Given the description of an element on the screen output the (x, y) to click on. 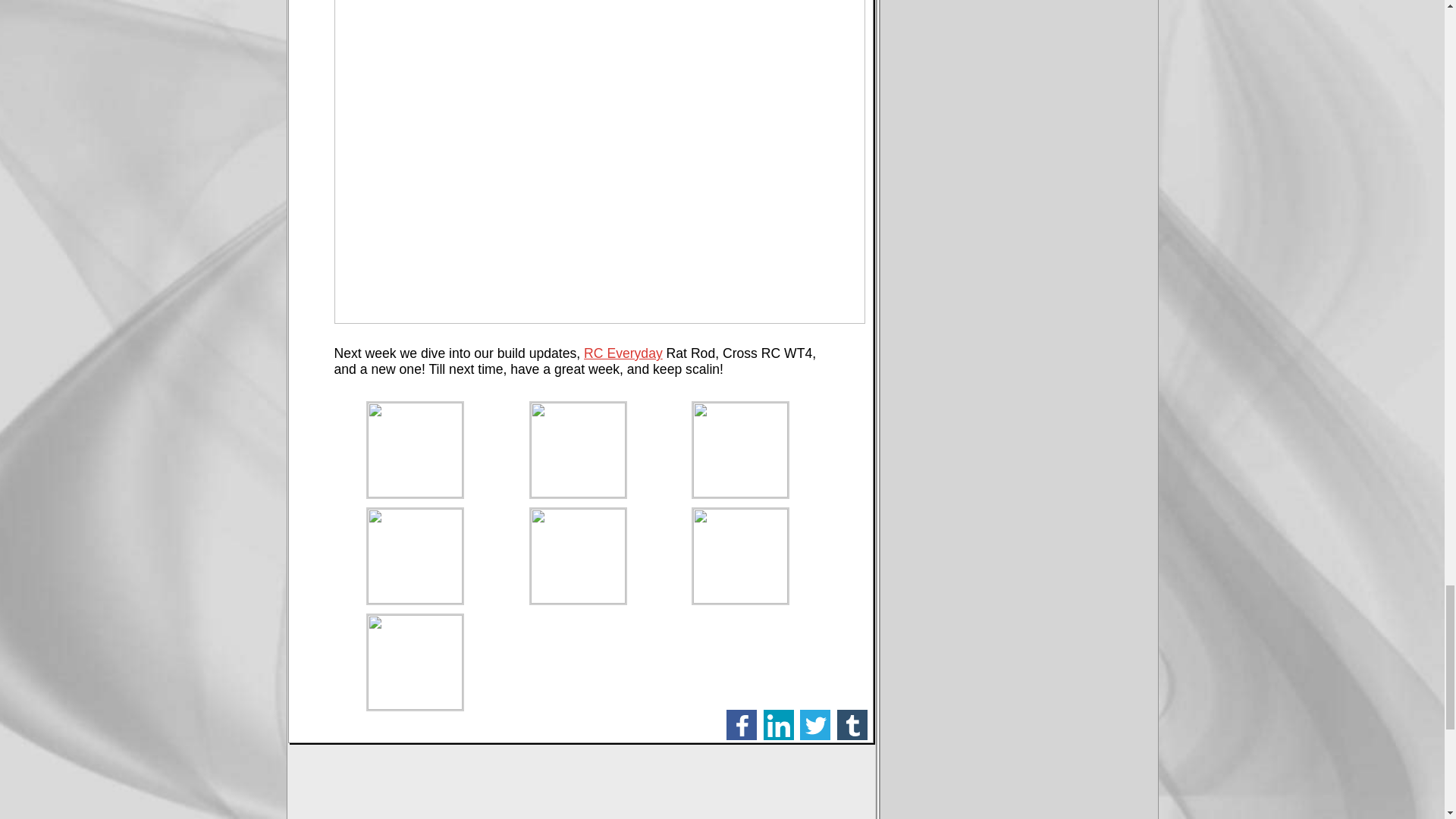
Share to Tumblr (852, 725)
tumblr (852, 725)
RC Everyday (622, 353)
Share to Linked In (777, 725)
Share on Twitter (814, 725)
linkedin (777, 725)
3rd party ad content (580, 785)
Share to Facebook (741, 725)
facebook (741, 725)
twitter (814, 725)
